Given the description of an element on the screen output the (x, y) to click on. 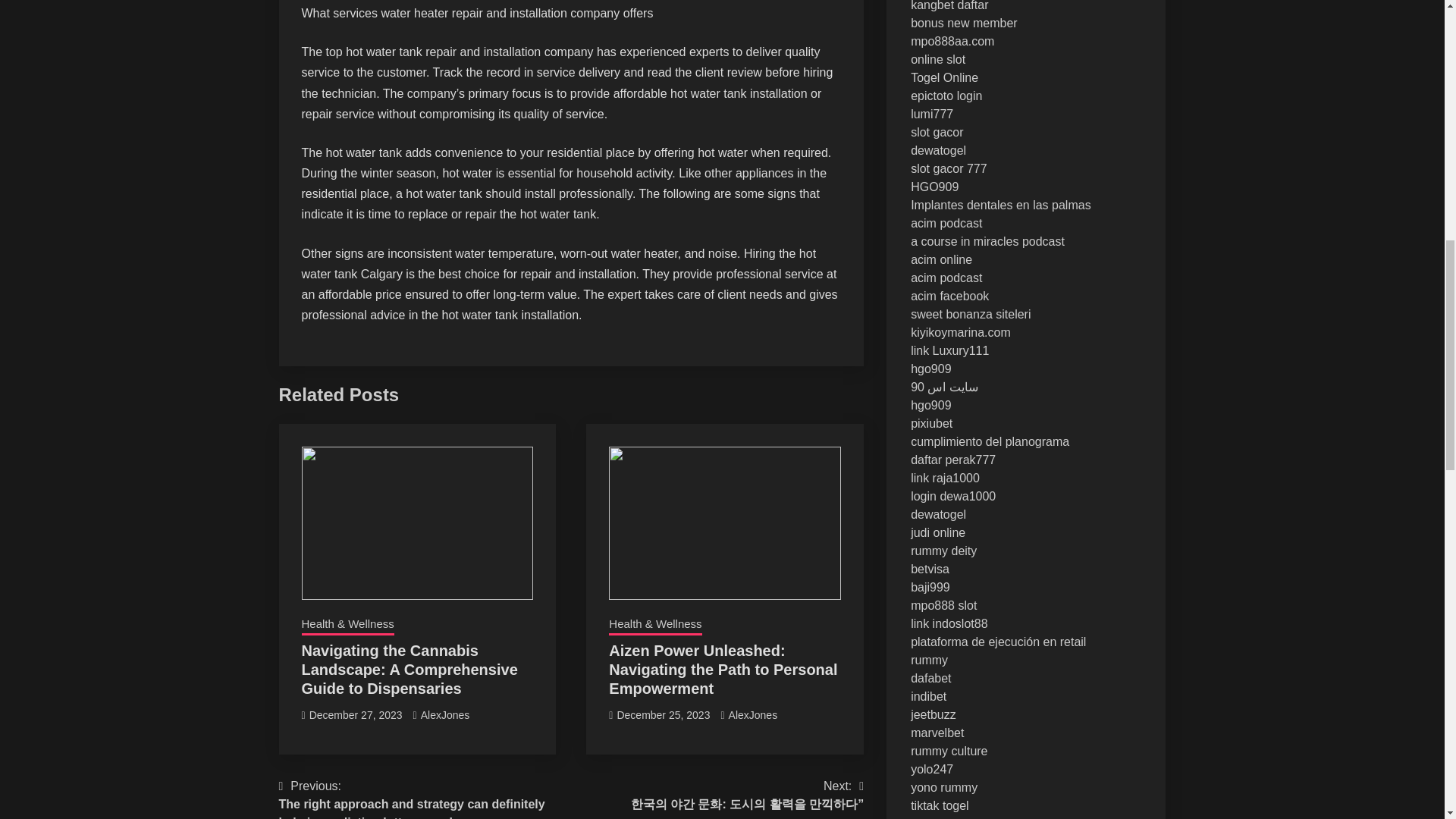
December 25, 2023 (662, 715)
AlexJones (753, 715)
December 27, 2023 (355, 715)
AlexJones (445, 715)
